Given the description of an element on the screen output the (x, y) to click on. 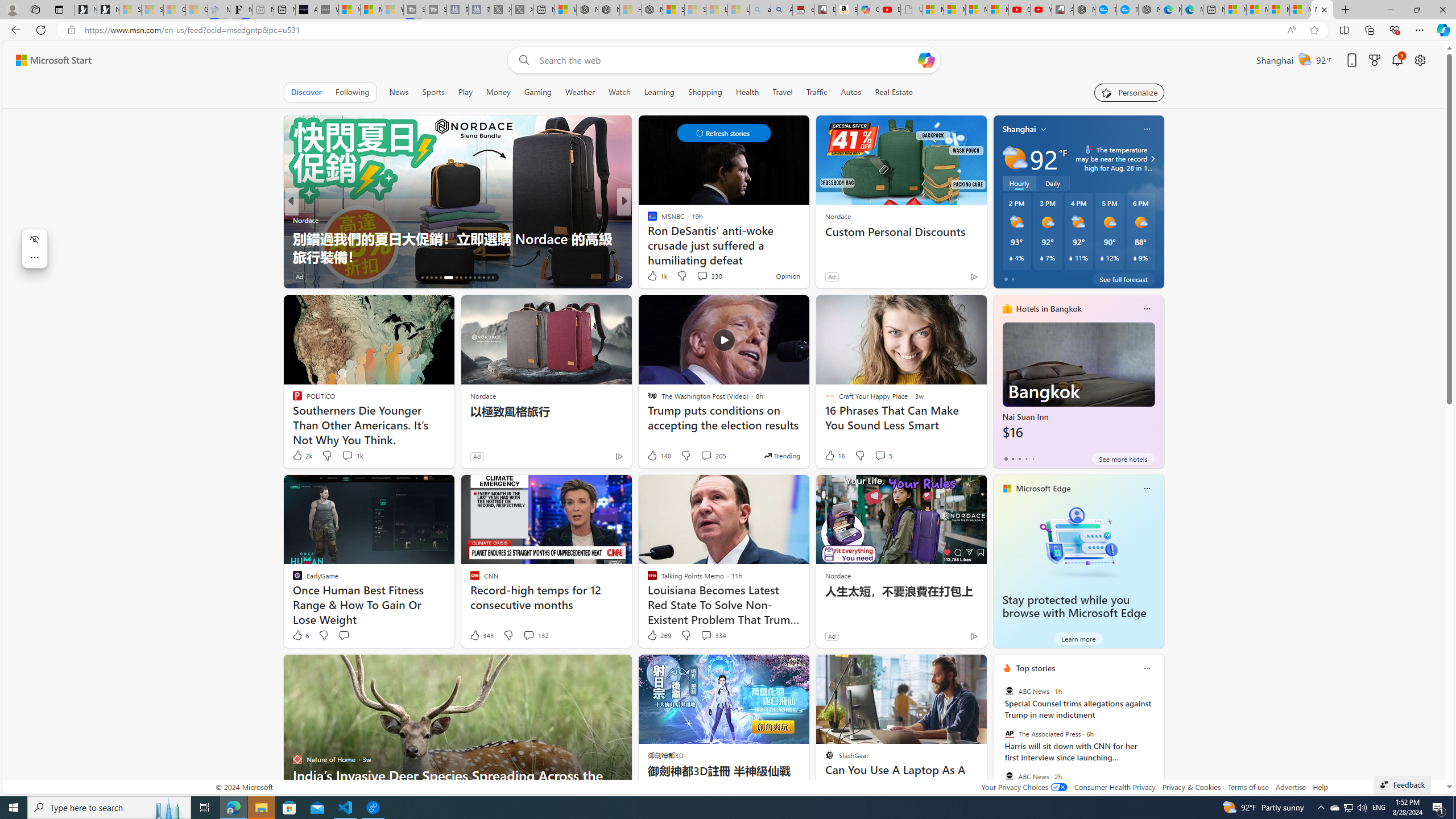
View comments 132 Comment (528, 635)
140 Like (658, 455)
Stacker (647, 219)
6 Like (299, 634)
87 Like (652, 276)
My location (1043, 128)
Hourly (1018, 183)
Class: weather-current-precipitation-glyph (1134, 257)
